Given the description of an element on the screen output the (x, y) to click on. 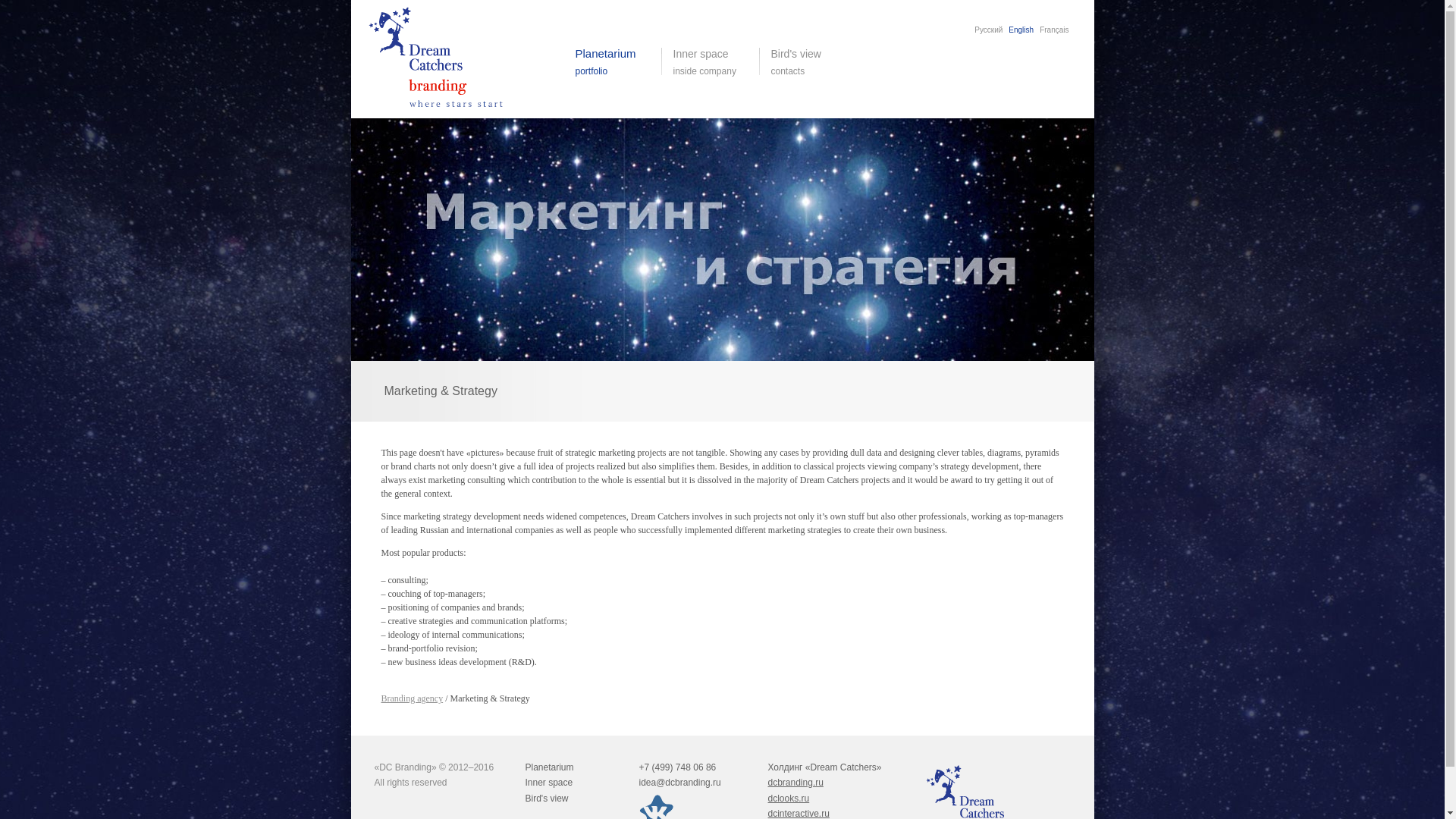
dcinteractive.ru (797, 813)
Branding agency (411, 697)
Planetarium (810, 61)
Bird's view (548, 767)
dcbranding.ru (545, 798)
Inner space (794, 782)
dclooks.ru (548, 782)
English (788, 798)
